Given the description of an element on the screen output the (x, y) to click on. 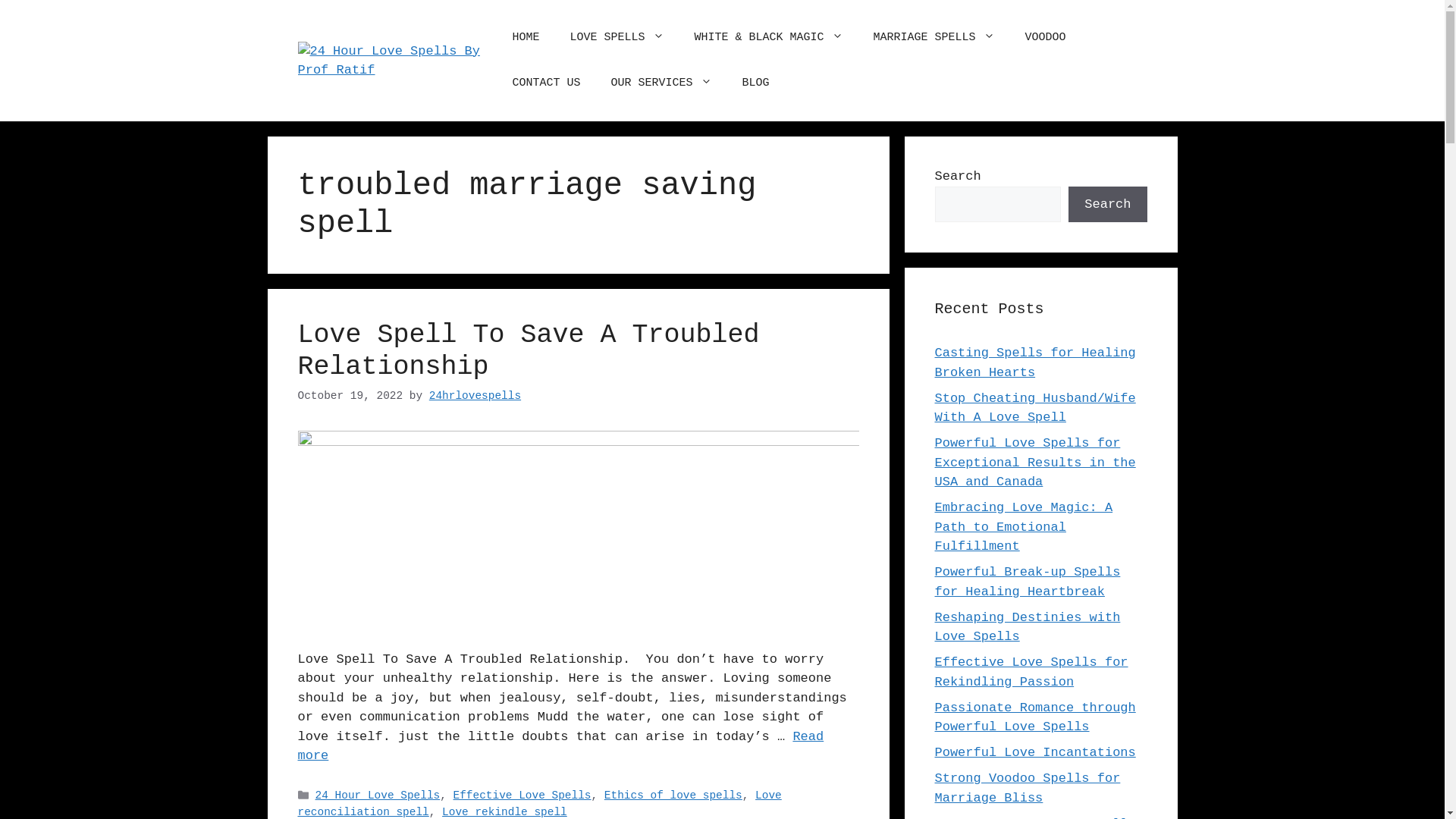
Casting Spells for Healing Broken Hearts Element type: text (1034, 362)
BLOG Element type: text (755, 83)
Love Spell To Save A Troubled Relationship Element type: text (528, 351)
Search Element type: text (1107, 204)
VOODOO Element type: text (1045, 37)
Reshaping Destinies with Love Spells Element type: text (1027, 626)
24hrlovespells Element type: text (474, 395)
Strong Voodoo Spells for Marriage Bliss Element type: text (1027, 788)
Love reconciliation spell Element type: text (539, 803)
CONTACT US Element type: text (546, 83)
LOVE SPELLS Element type: text (617, 37)
OUR SERVICES Element type: text (661, 83)
HOME Element type: text (526, 37)
Passionate Romance through Powerful Love Spells Element type: text (1034, 717)
24 Hour Love Spells Element type: text (377, 795)
Powerful Love Incantations Element type: text (1034, 752)
Read more Element type: text (560, 746)
Effective Love Spells Element type: text (522, 795)
MARRIAGE SPELLS Element type: text (934, 37)
Stop Cheating Husband/Wife With A Love Spell Element type: text (1034, 408)
Effective Love Spells for Rekindling Passion Element type: text (1030, 672)
WHITE & BLACK MAGIC Element type: text (768, 37)
Ethics of love spells Element type: text (673, 795)
Love rekindle spell Element type: text (504, 812)
Powerful Break-up Spells for Healing Heartbreak Element type: text (1027, 581)
Embracing Love Magic: A Path to Emotional Fulfillment Element type: text (1023, 526)
